Given the description of an element on the screen output the (x, y) to click on. 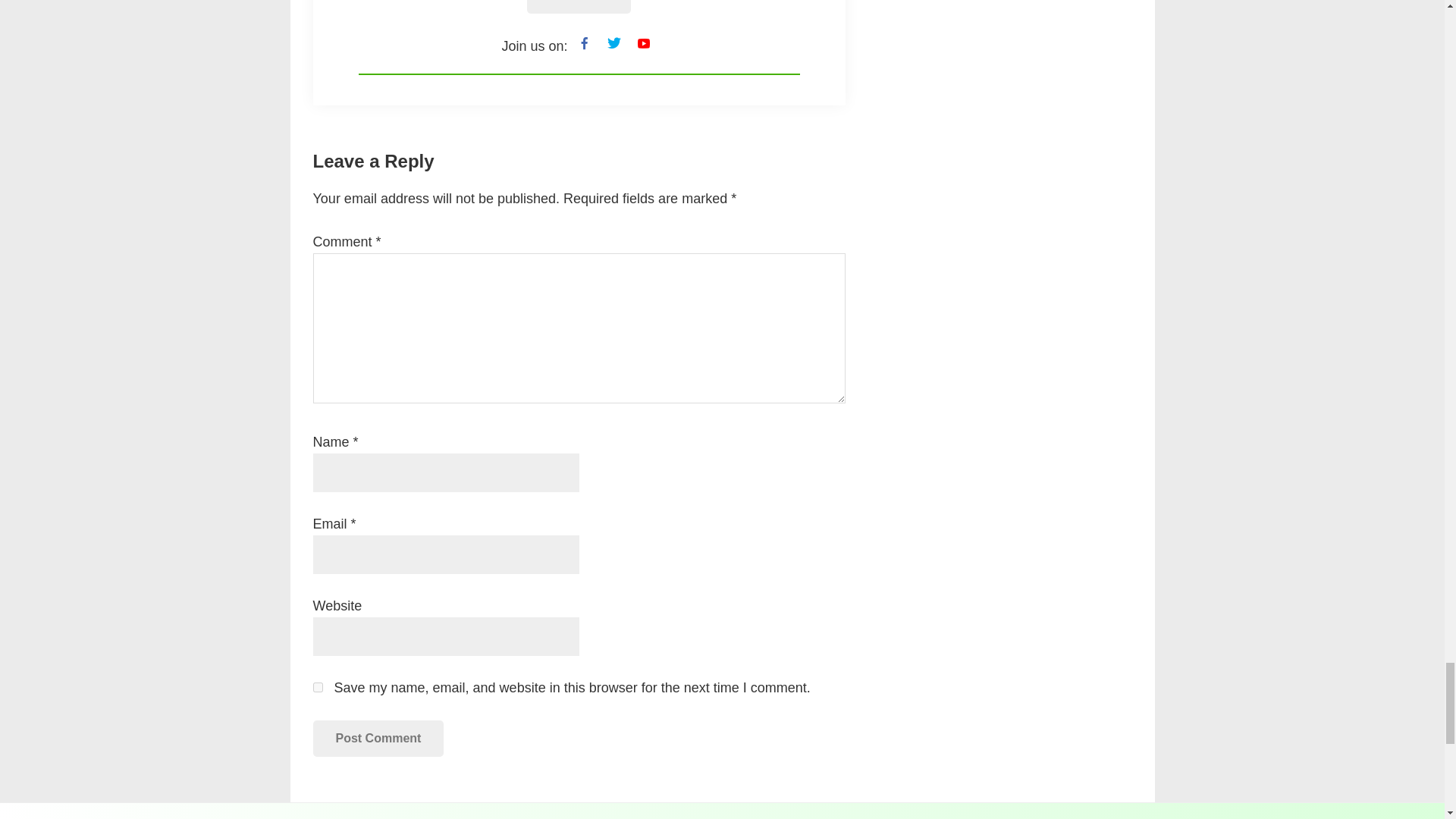
yes (317, 687)
Post Comment (378, 738)
Subscribe (578, 6)
